Given the description of an element on the screen output the (x, y) to click on. 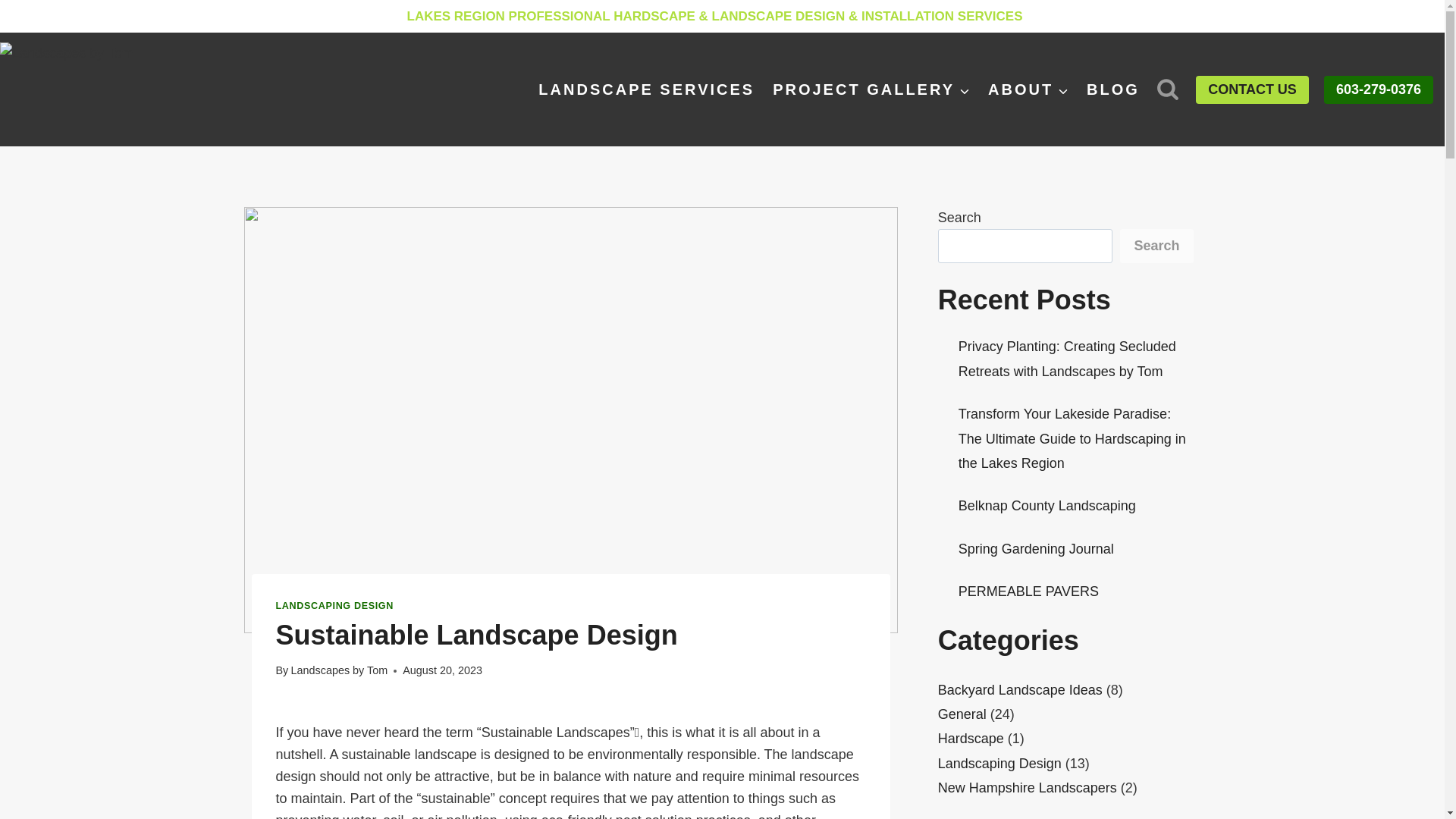
BLOG (1112, 88)
ABOUT (1027, 88)
LANDSCAPE SERVICES (645, 88)
603-279-0376 (1377, 90)
LANDSCAPING DESIGN (334, 605)
Landscapes by Tom (338, 670)
PROJECT GALLERY (870, 88)
CONTACT US (1251, 90)
